Given the description of an element on the screen output the (x, y) to click on. 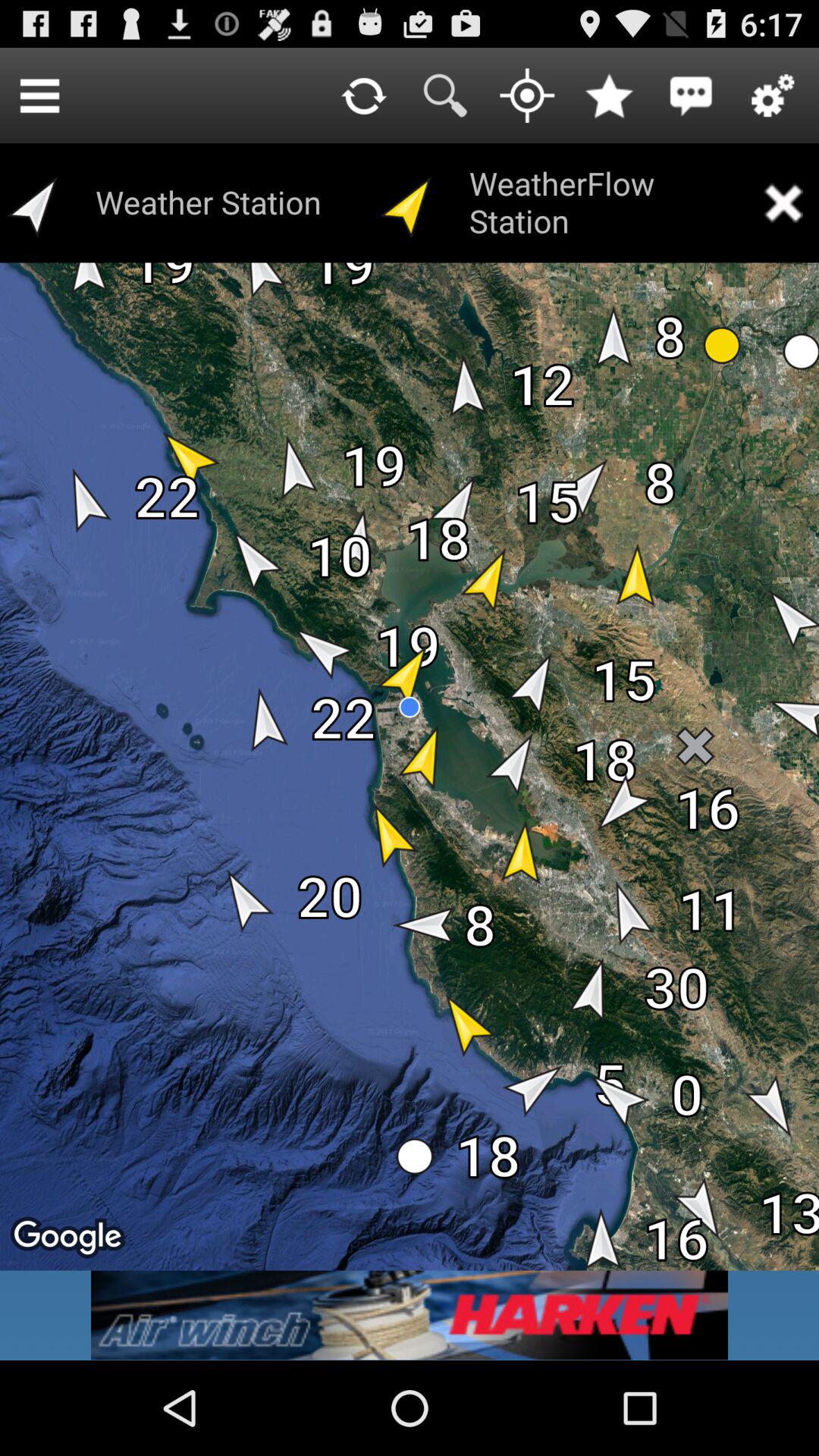
search (445, 95)
